Given the description of an element on the screen output the (x, y) to click on. 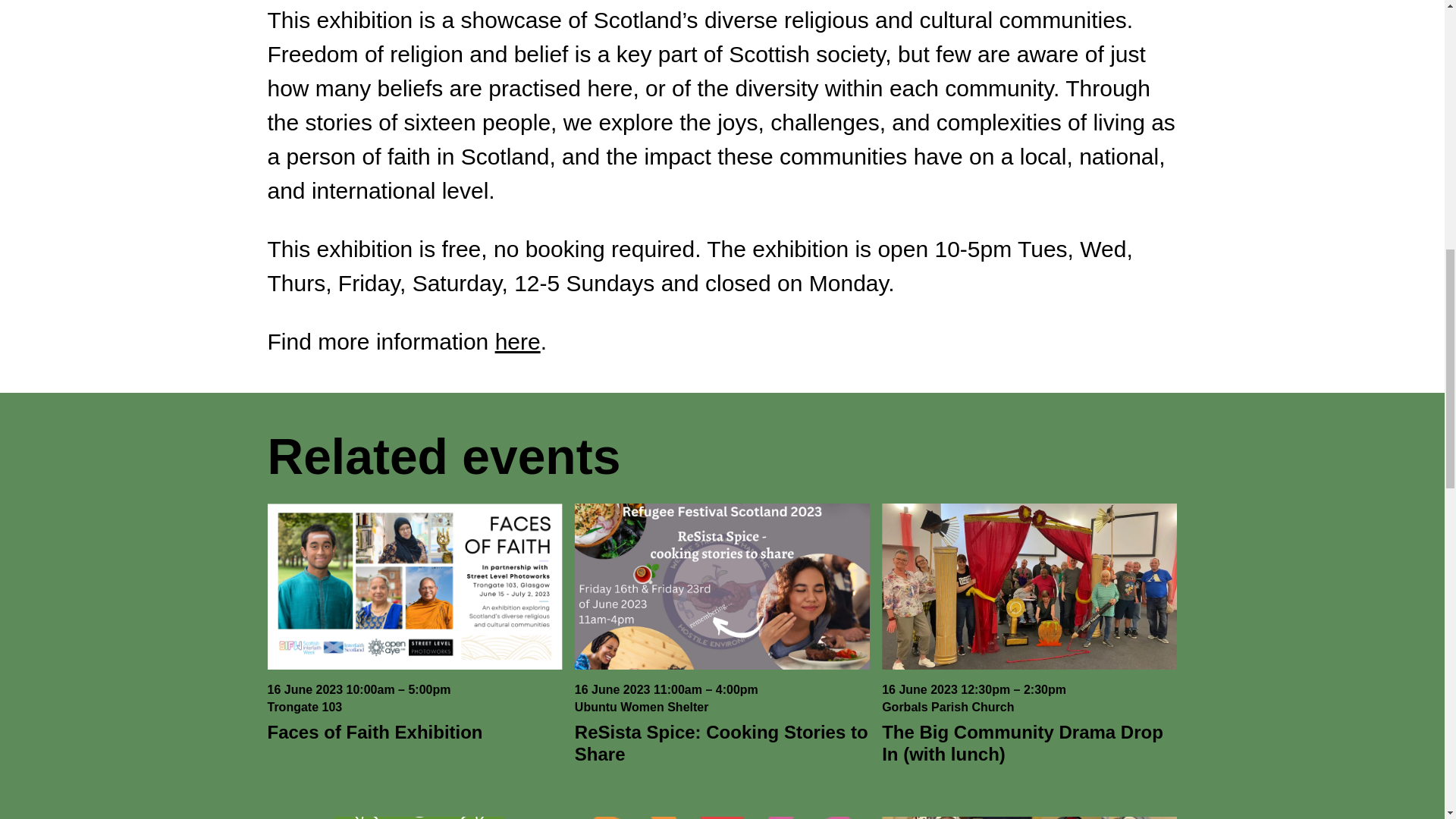
here (517, 341)
Faces of Faith Exhibition (373, 731)
ReSista Spice: Cooking Stories to Share (721, 742)
